Given the description of an element on the screen output the (x, y) to click on. 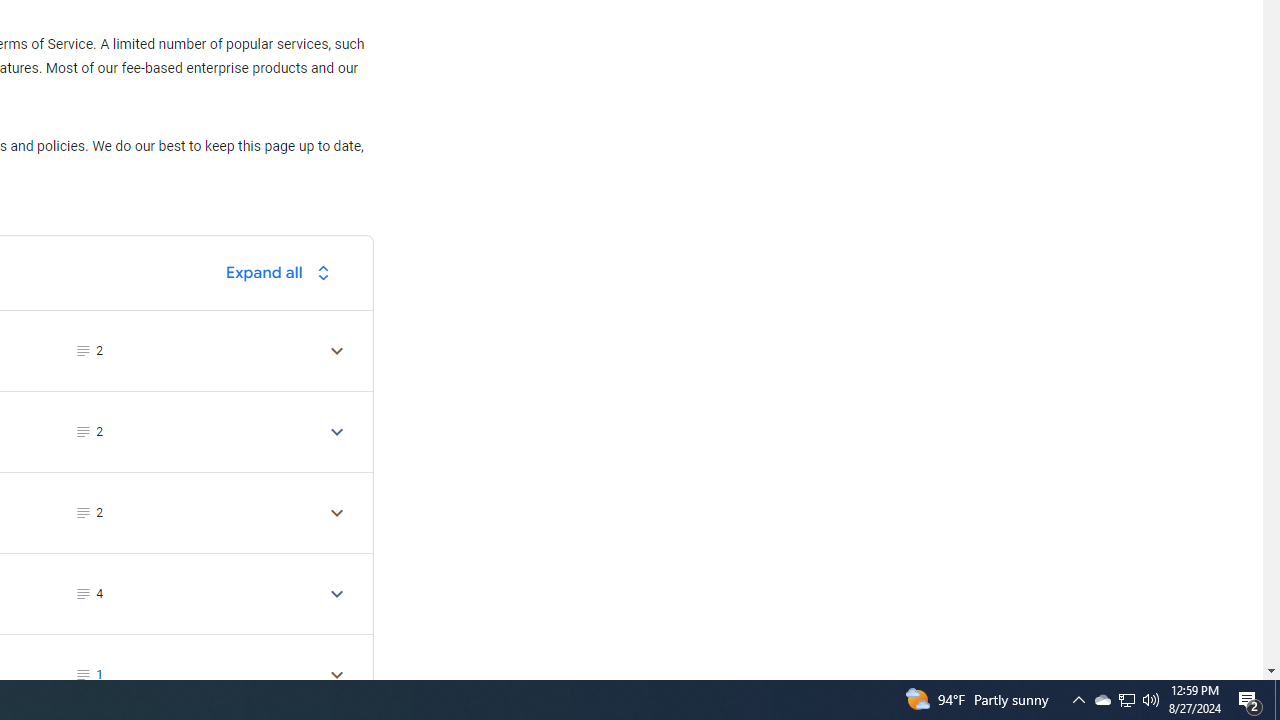
Expand all (283, 272)
